Given the description of an element on the screen output the (x, y) to click on. 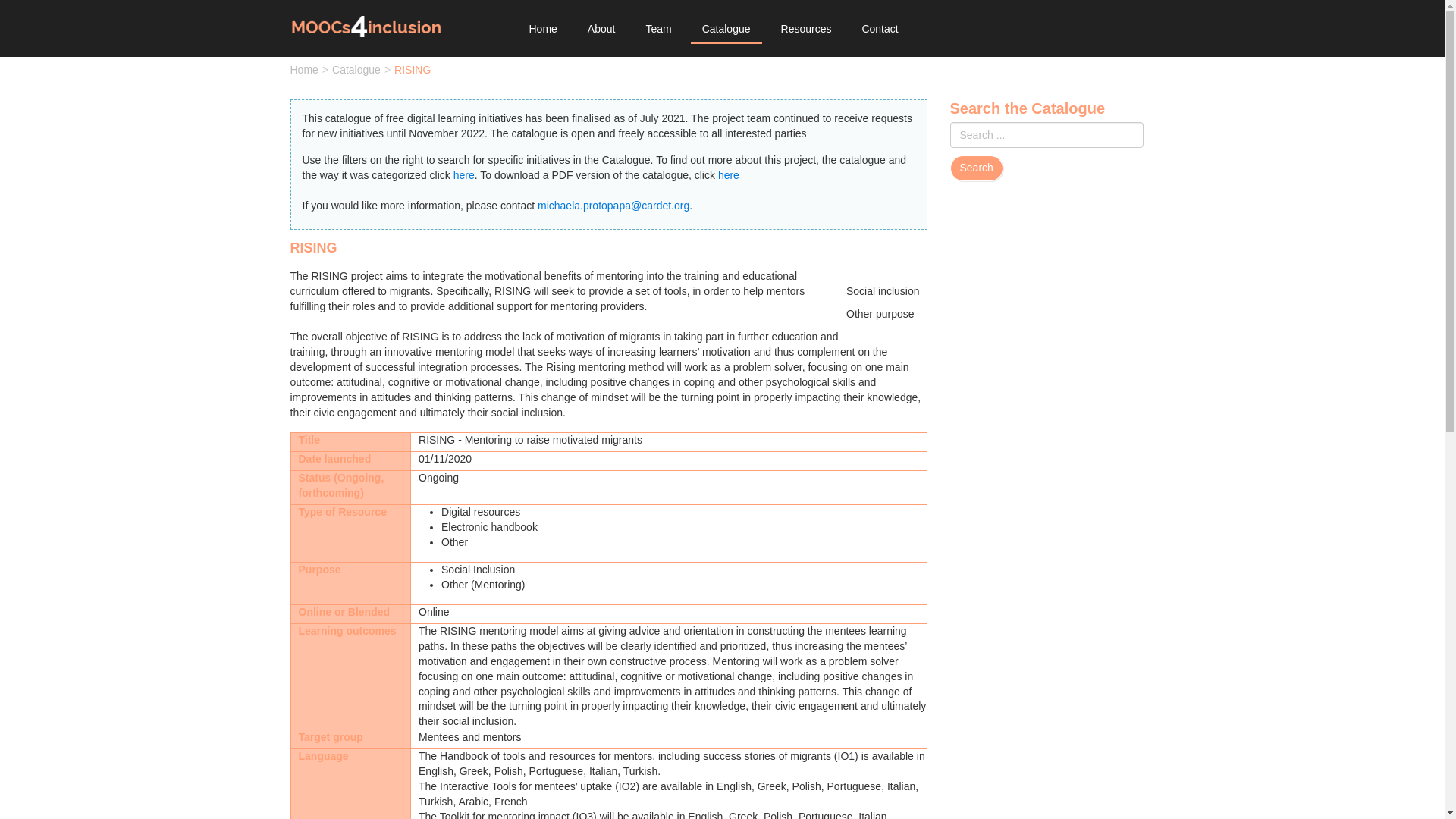
About (601, 28)
Team (657, 28)
here (463, 174)
Resources (806, 28)
Home (541, 28)
Search ... (1045, 135)
Catalogue (725, 28)
Contact (879, 28)
Search ... (1045, 135)
Search (976, 167)
